Given the description of an element on the screen output the (x, y) to click on. 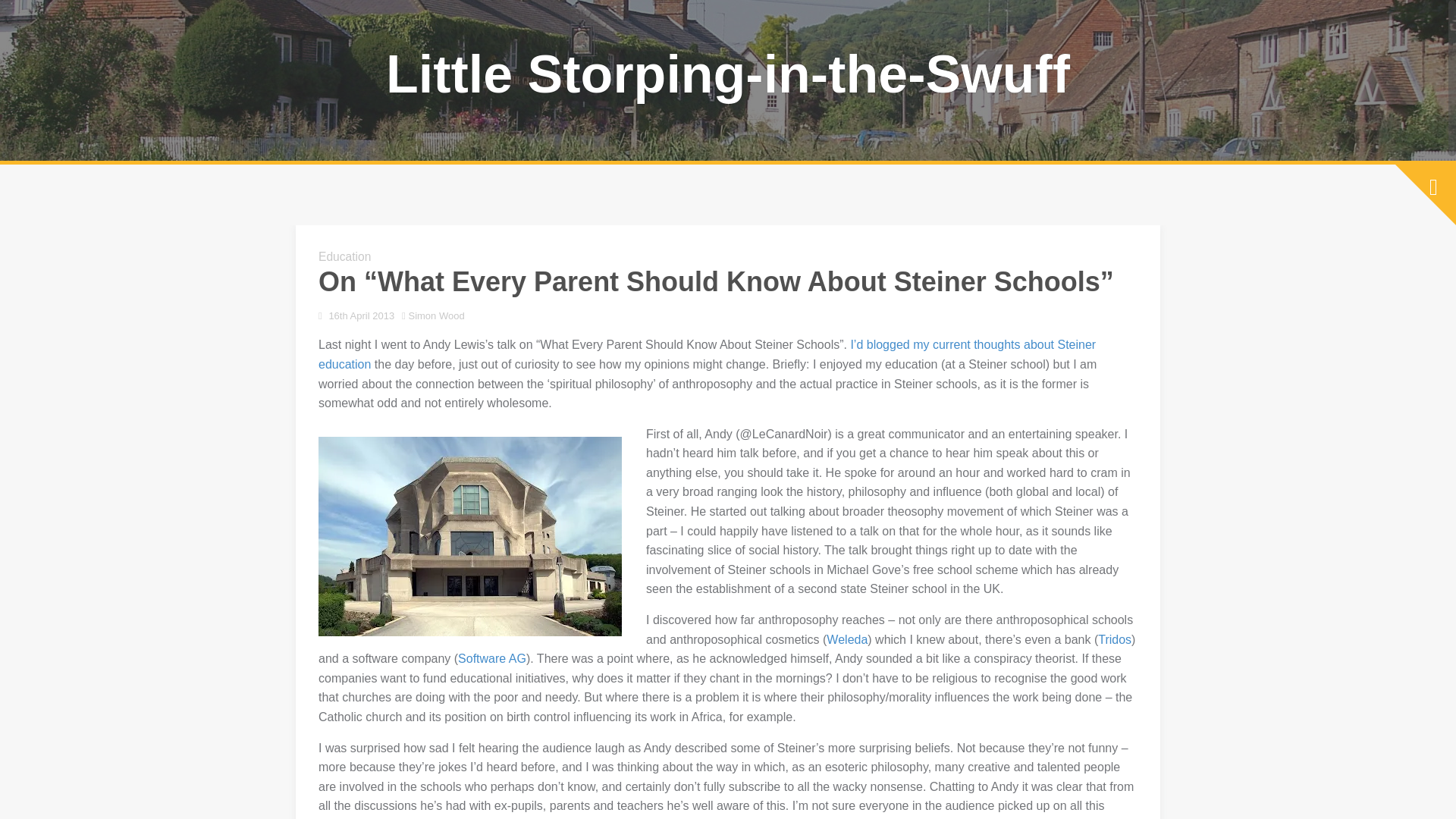
Simon Wood (435, 315)
16th April 2013 (361, 315)
Tridos (1114, 639)
Little Storping-in-the-Swuff (727, 74)
Weleda (847, 639)
Software AG (491, 658)
Education (344, 256)
